Given the description of an element on the screen output the (x, y) to click on. 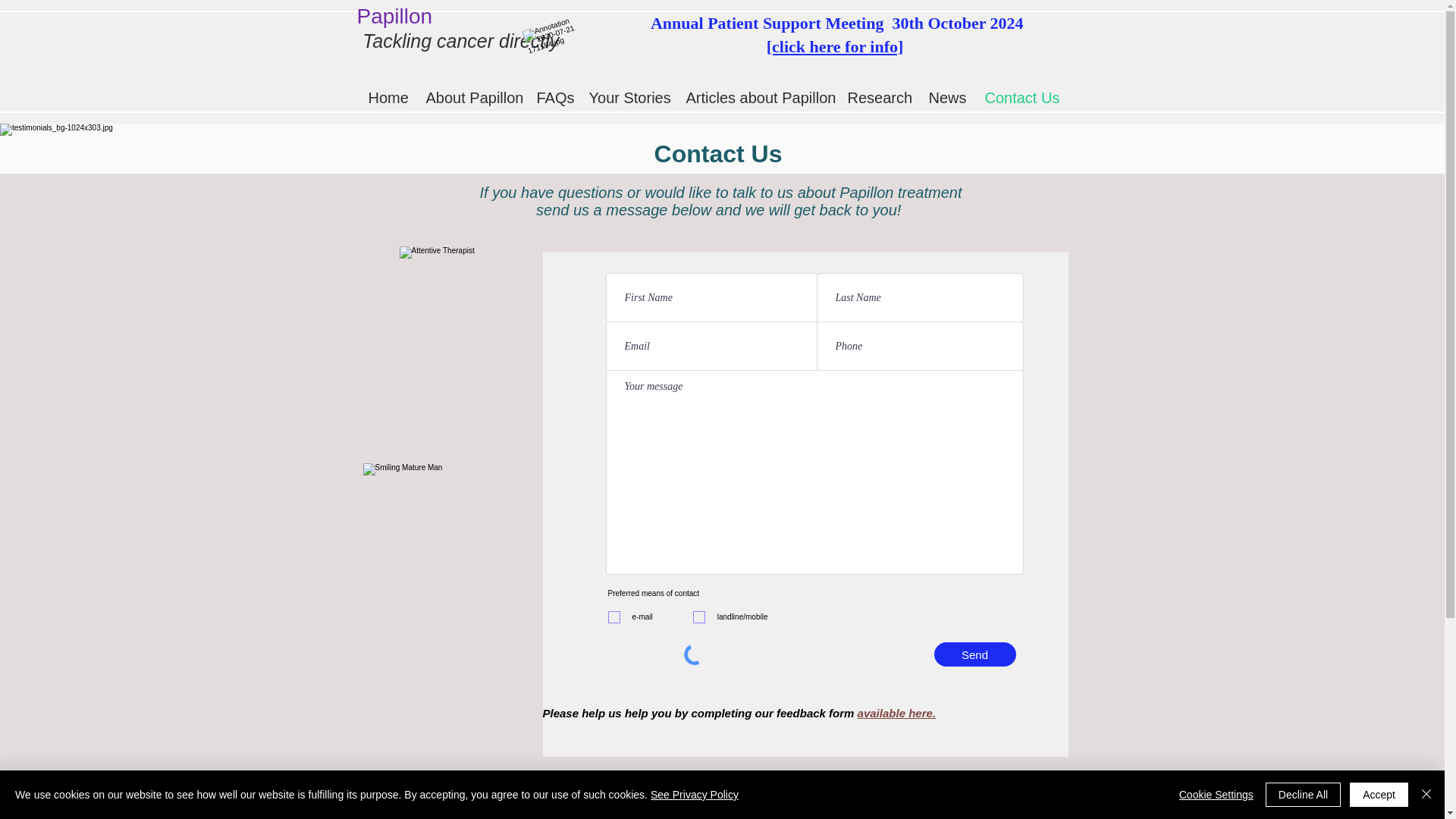
Research (876, 97)
Accept (1378, 794)
About Papillon (468, 97)
FAQs (550, 97)
Your Stories (626, 97)
Decline All (1302, 794)
Articles about Papillon (755, 97)
News (945, 97)
See Privacy Policy (694, 794)
available here. (896, 712)
